Given the description of an element on the screen output the (x, y) to click on. 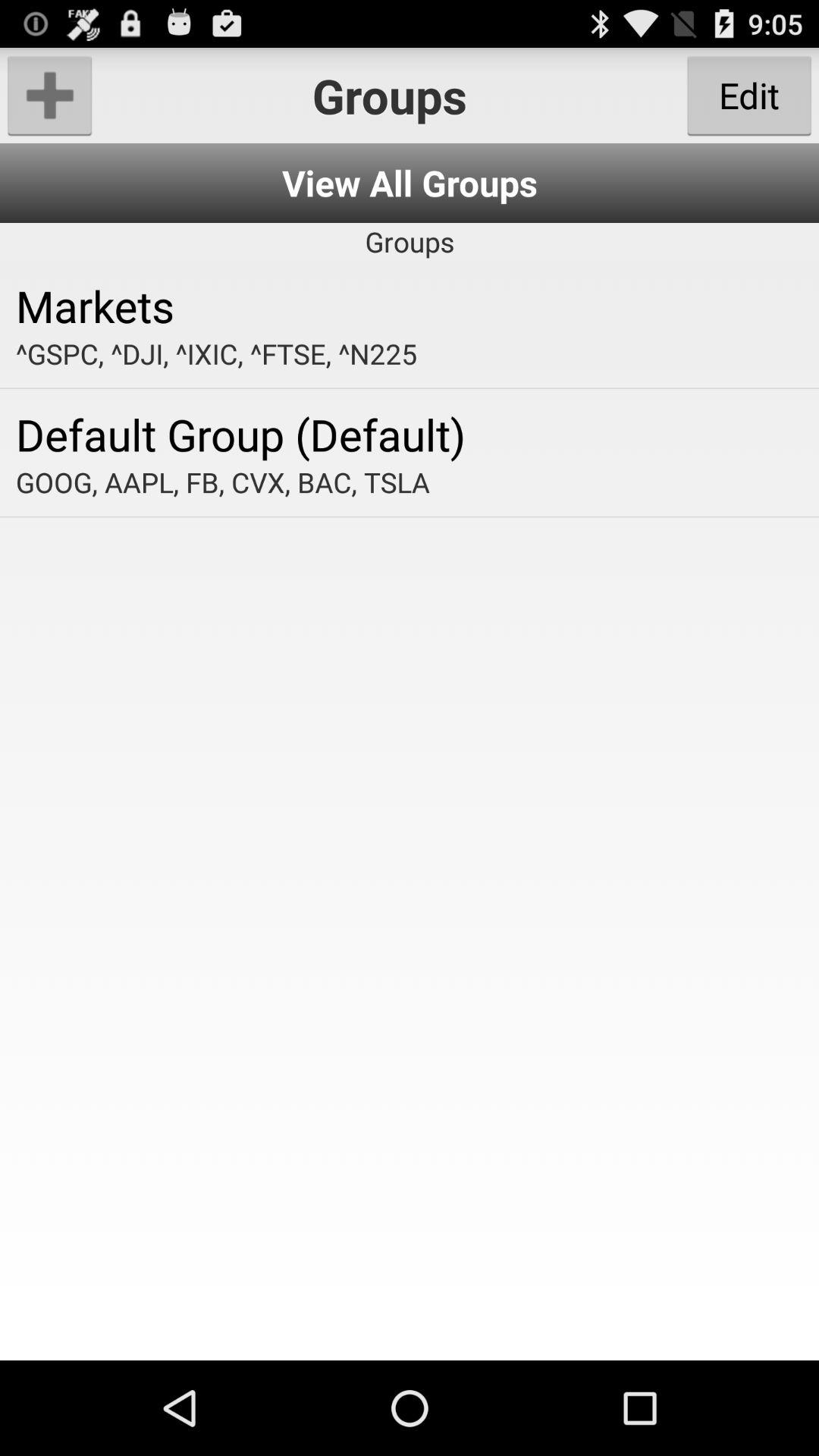
open the icon below the groups app (409, 305)
